Given the description of an element on the screen output the (x, y) to click on. 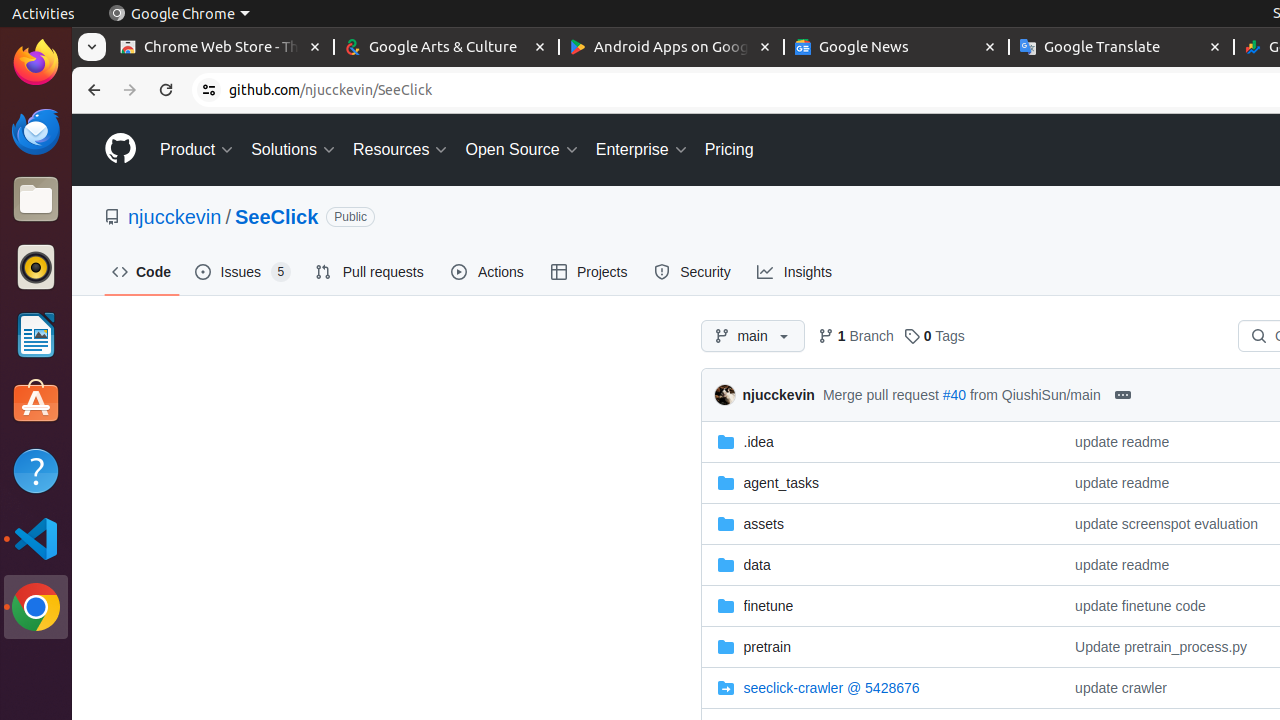
Android Apps on Google Play - Memory usage - 52.2 MB Element type: page-tab (671, 47)
View site information Element type: push-button (209, 90)
.idea, (Directory) Element type: link (758, 441)
data, (Directory) Element type: table-cell (880, 564)
Enterprise Element type: push-button (642, 150)
